Given the description of an element on the screen output the (x, y) to click on. 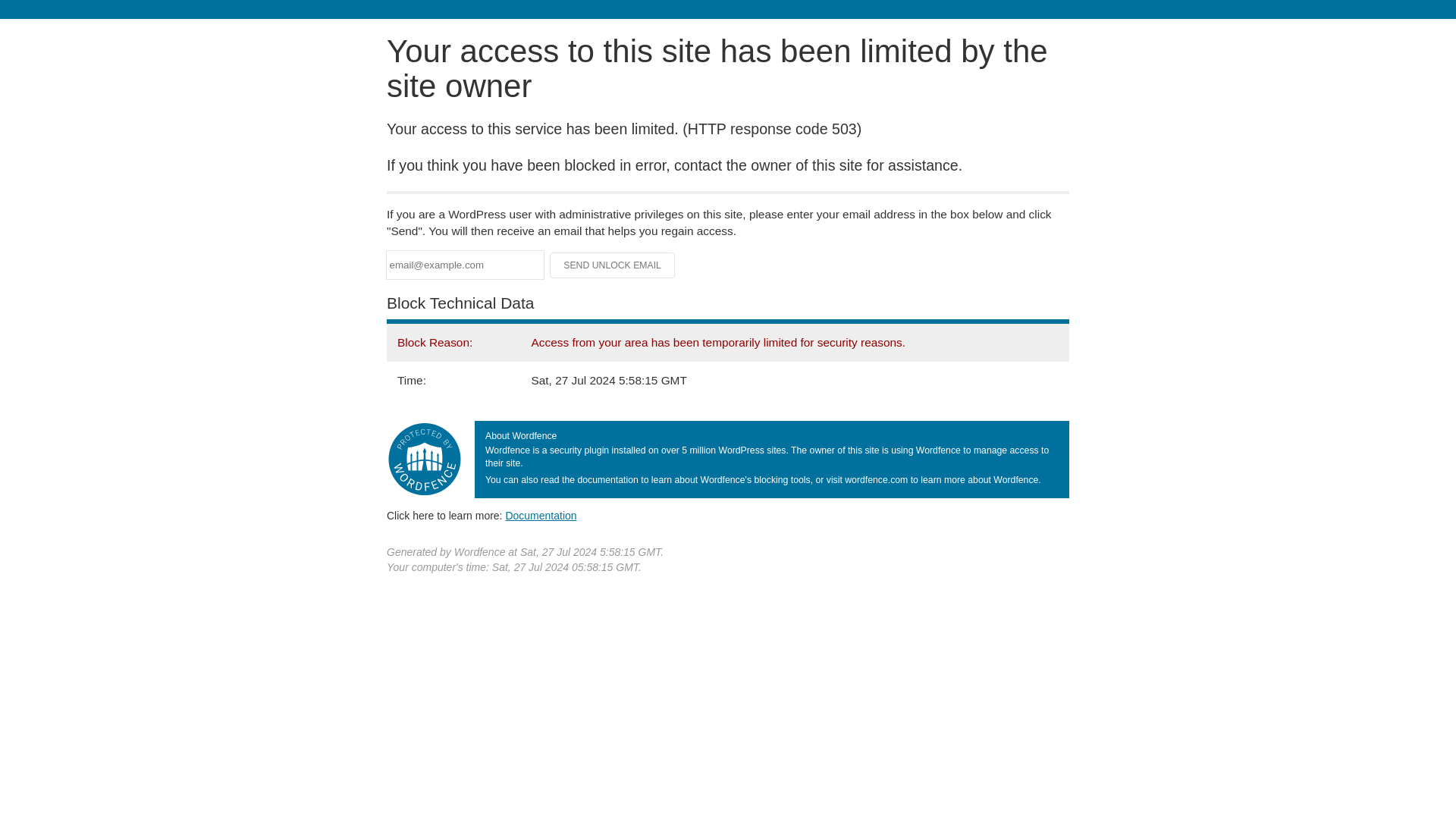
Send Unlock Email (612, 265)
Documentation (540, 515)
Send Unlock Email (612, 265)
